Given the description of an element on the screen output the (x, y) to click on. 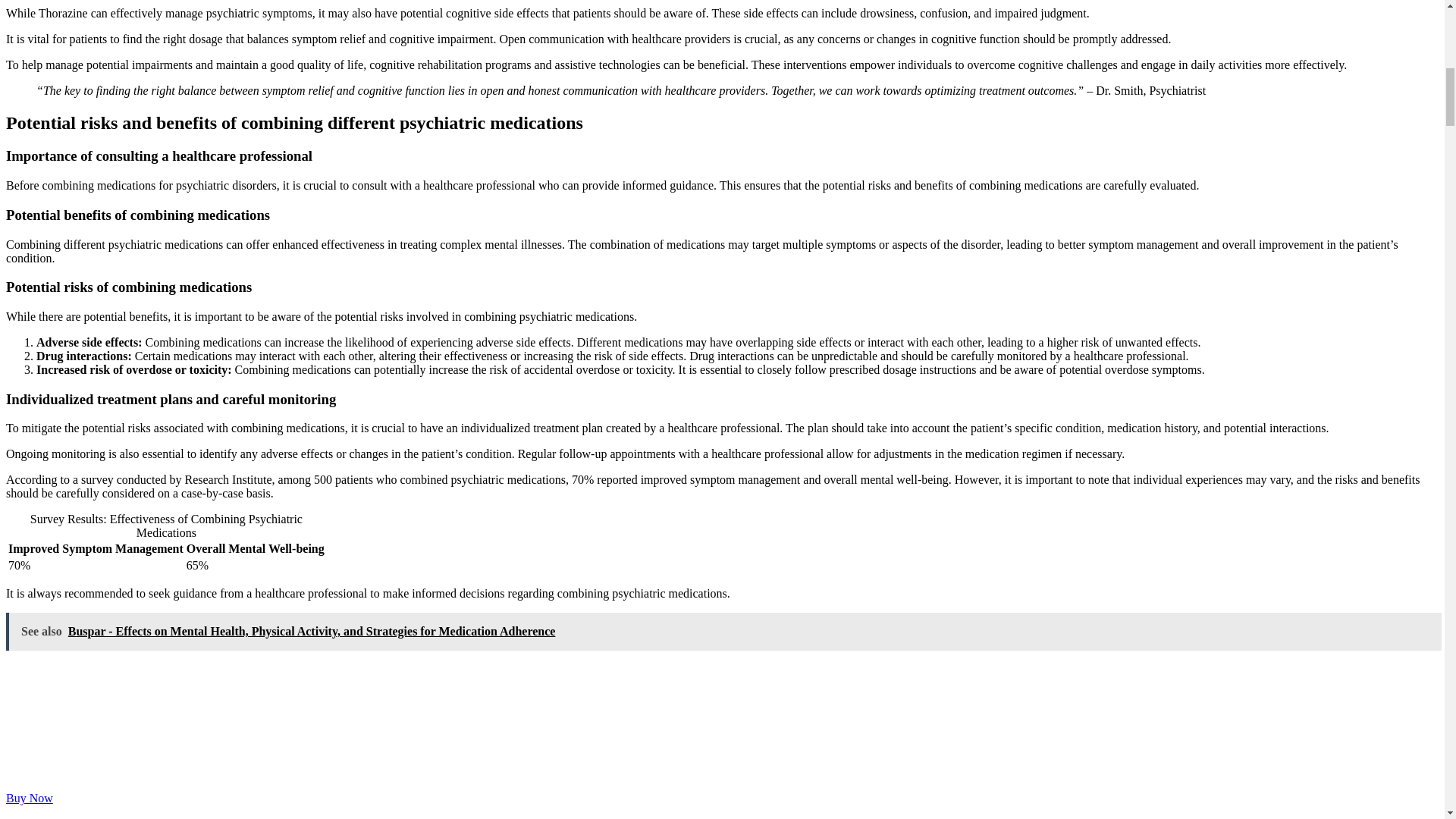
Buy Now (28, 797)
